Given the description of an element on the screen output the (x, y) to click on. 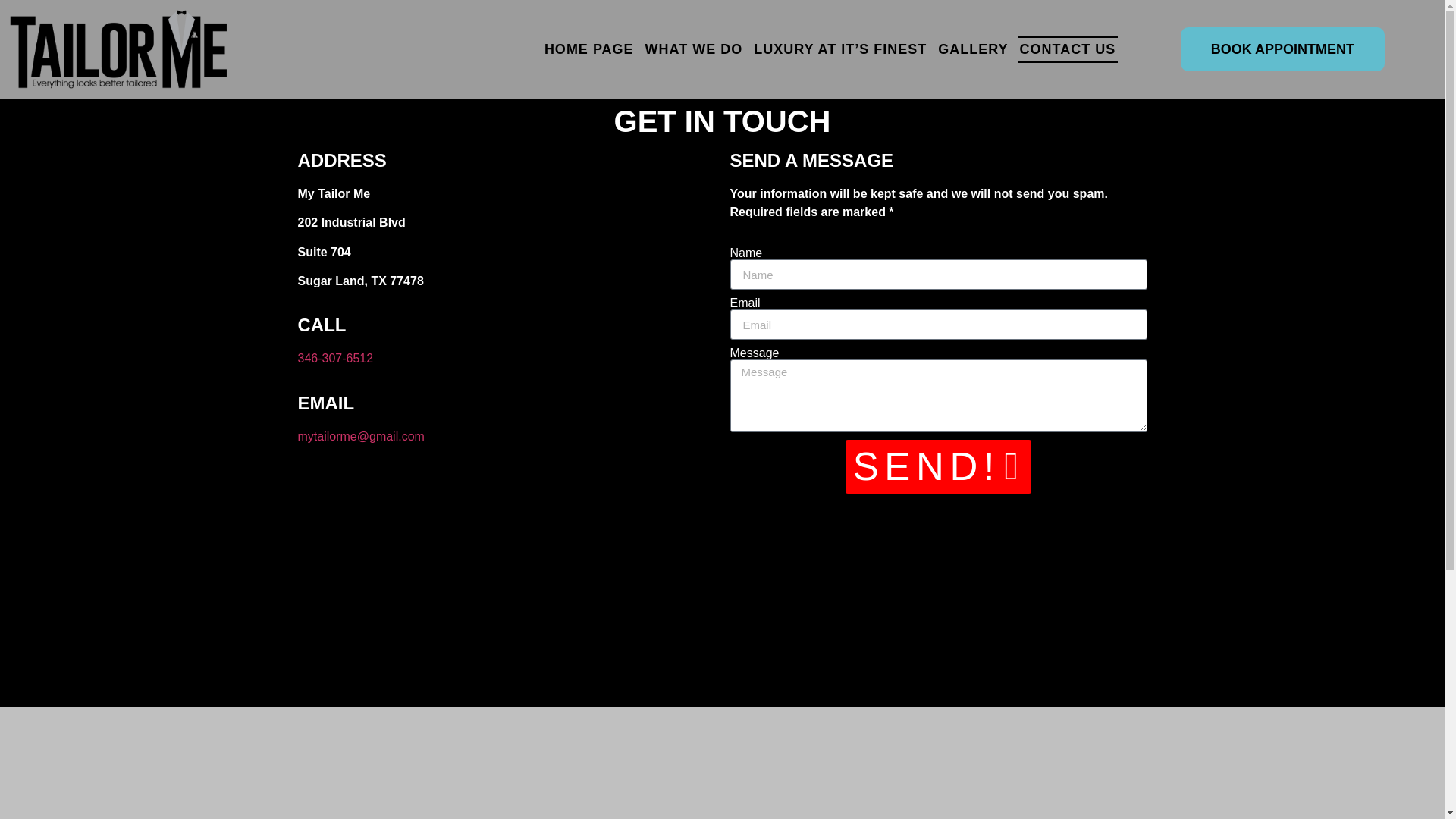
346-307-6512 (334, 358)
BOOK APPOINTMENT (1282, 49)
SEND! (938, 466)
GALLERY (973, 49)
WHAT WE DO (694, 49)
CONTACT US (1067, 49)
HOME PAGE (588, 49)
